Given the description of an element on the screen output the (x, y) to click on. 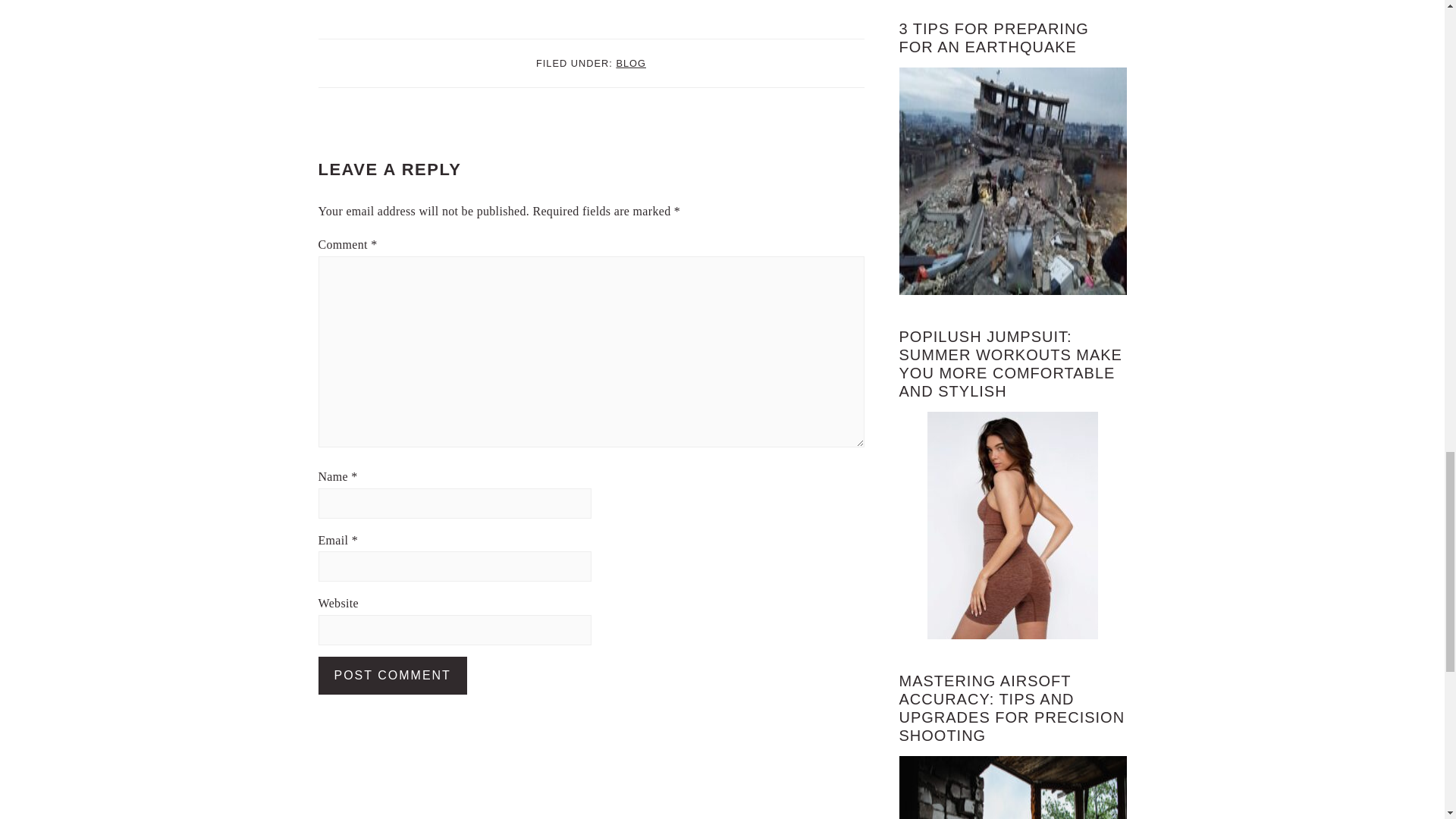
3 Tips For Preparing For An Earthquake (1012, 180)
Post Comment (392, 675)
BLOG (630, 62)
3 TIPS FOR PREPARING FOR AN EARTHQUAKE (994, 37)
Post Comment (392, 675)
